Given the description of an element on the screen output the (x, y) to click on. 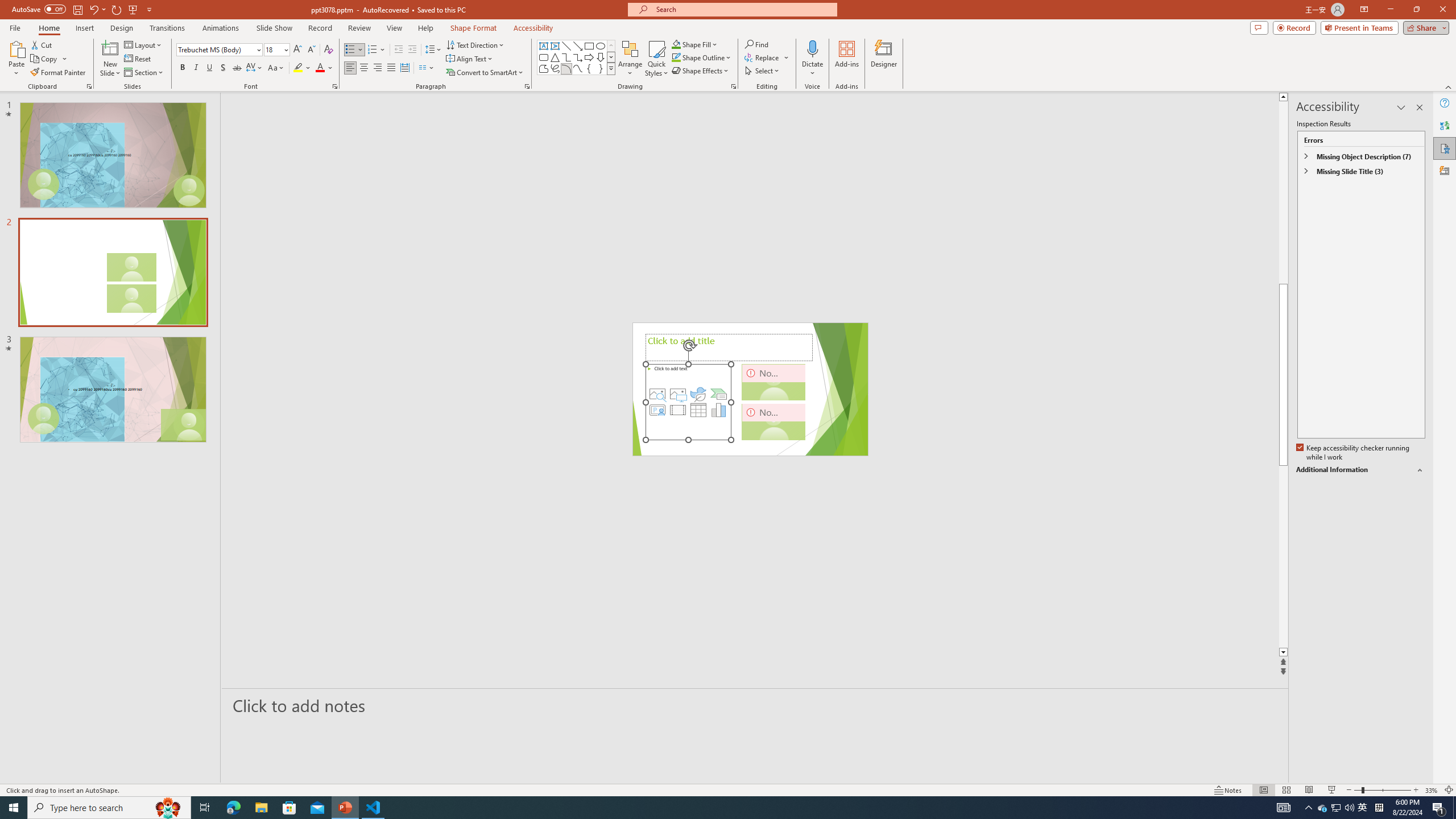
Insert an Icon (697, 394)
Insert Video (677, 409)
